Given the description of an element on the screen output the (x, y) to click on. 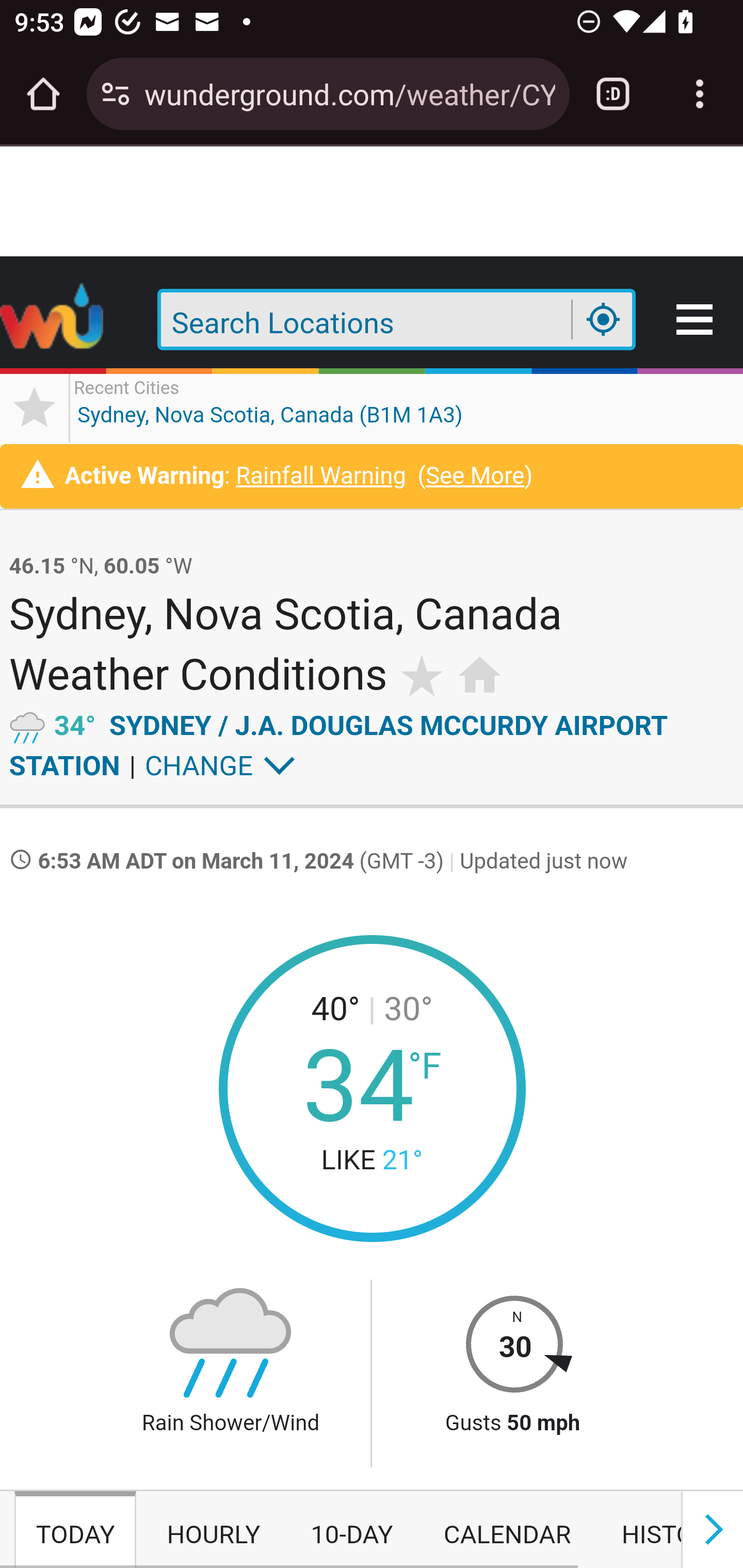
Open the home page (43, 93)
Connection is secure (115, 93)
Switch or close tabs (612, 93)
Customize and control Google Chrome (699, 93)
wunderground.com/weather/CYQY (349, 92)
Weather Underground Logo _ (52, 320)
Menu (695, 320)
Manage Favorites star (34, 407)
Sydney, Nova Scotia, Canada (B1M 1A3) (269, 407)
TODAY (75, 1529)
HOURLY (213, 1529)
10-DAY (351, 1529)
CALENDAR (507, 1529)
